Given the description of an element on the screen output the (x, y) to click on. 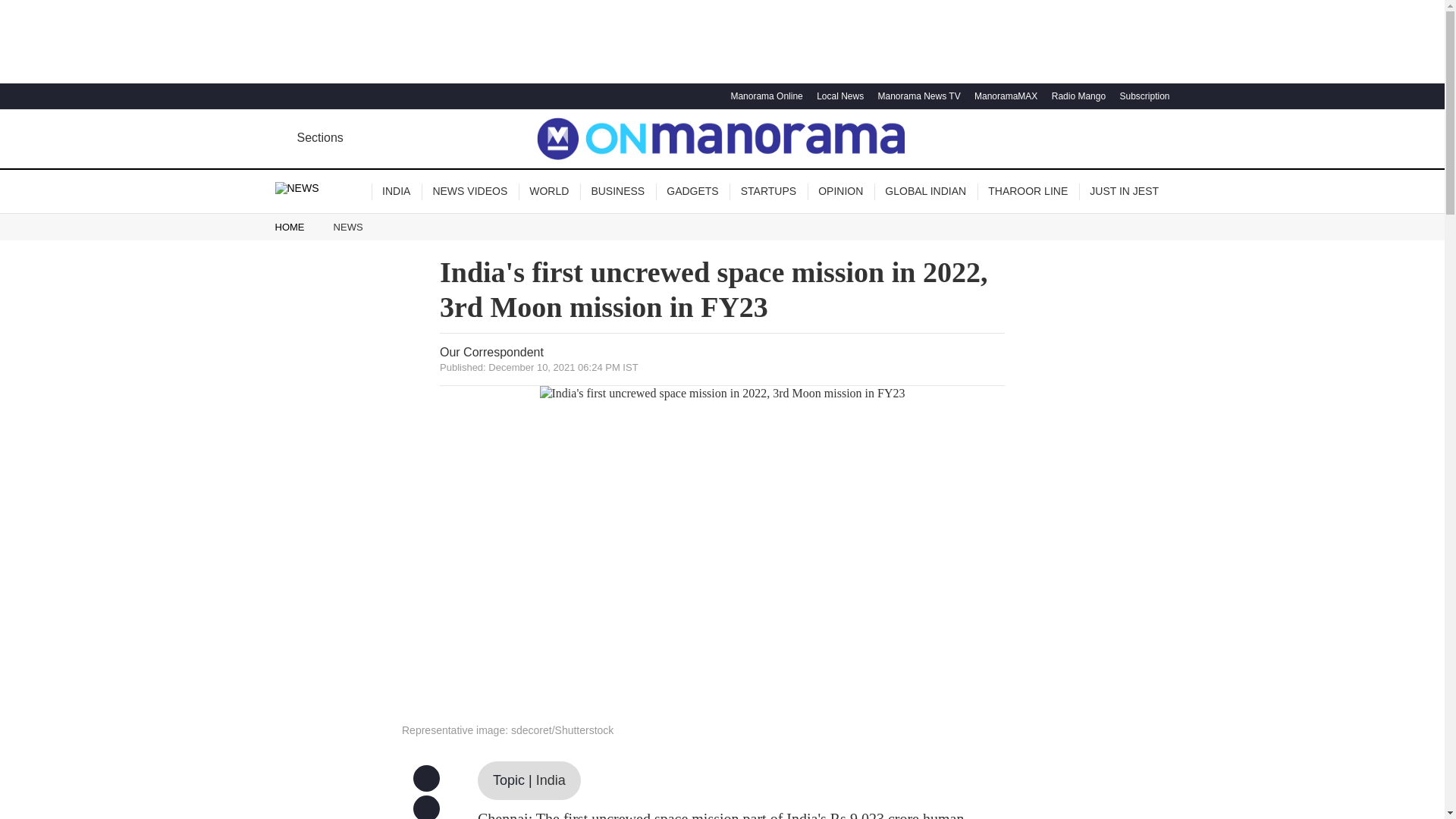
INDIA (395, 191)
Radio Mango (1076, 95)
BUSINESS (617, 191)
Local News (837, 95)
ManoramaMAX (1003, 95)
Subscription (1142, 95)
WORLD (548, 191)
NEWS VIDEOS (470, 191)
Manorama Online (764, 95)
Manorama News TV (916, 95)
